Given the description of an element on the screen output the (x, y) to click on. 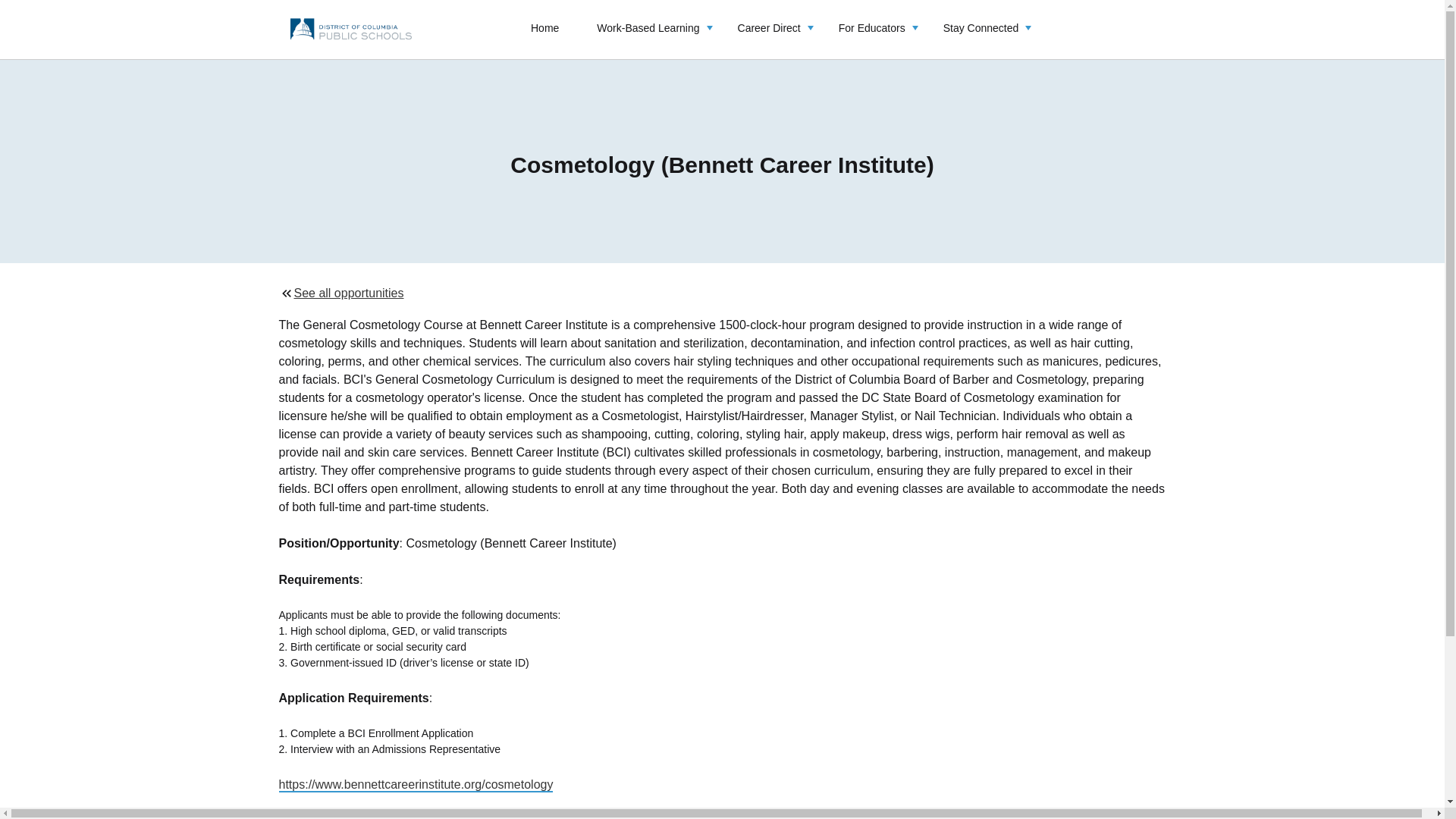
See all opportunities (722, 293)
Career Direct (769, 29)
Home (545, 29)
Work-Based Learning (647, 29)
Stay Connected (981, 29)
For Educators (871, 29)
